Given the description of an element on the screen output the (x, y) to click on. 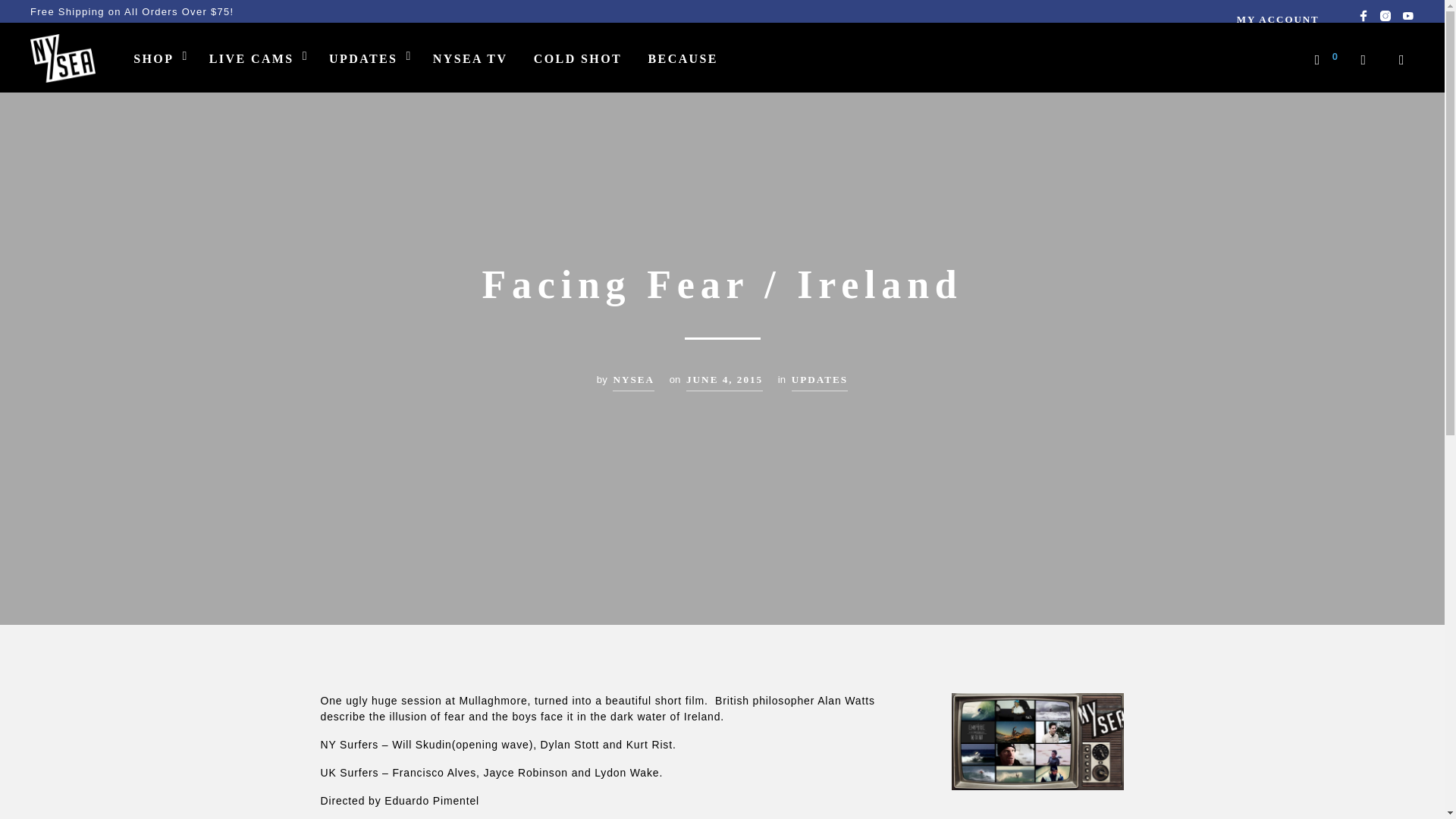
SHOP (153, 58)
View all posts by nysea (632, 381)
0 (1326, 56)
UPDATES (363, 58)
COLD SHOT (577, 58)
JUNE 4, 2015 (723, 381)
NYSEA TV (470, 58)
LIVE CAMS (251, 58)
MY ACCOUNT (1277, 19)
UPDATES (819, 381)
